Given the description of an element on the screen output the (x, y) to click on. 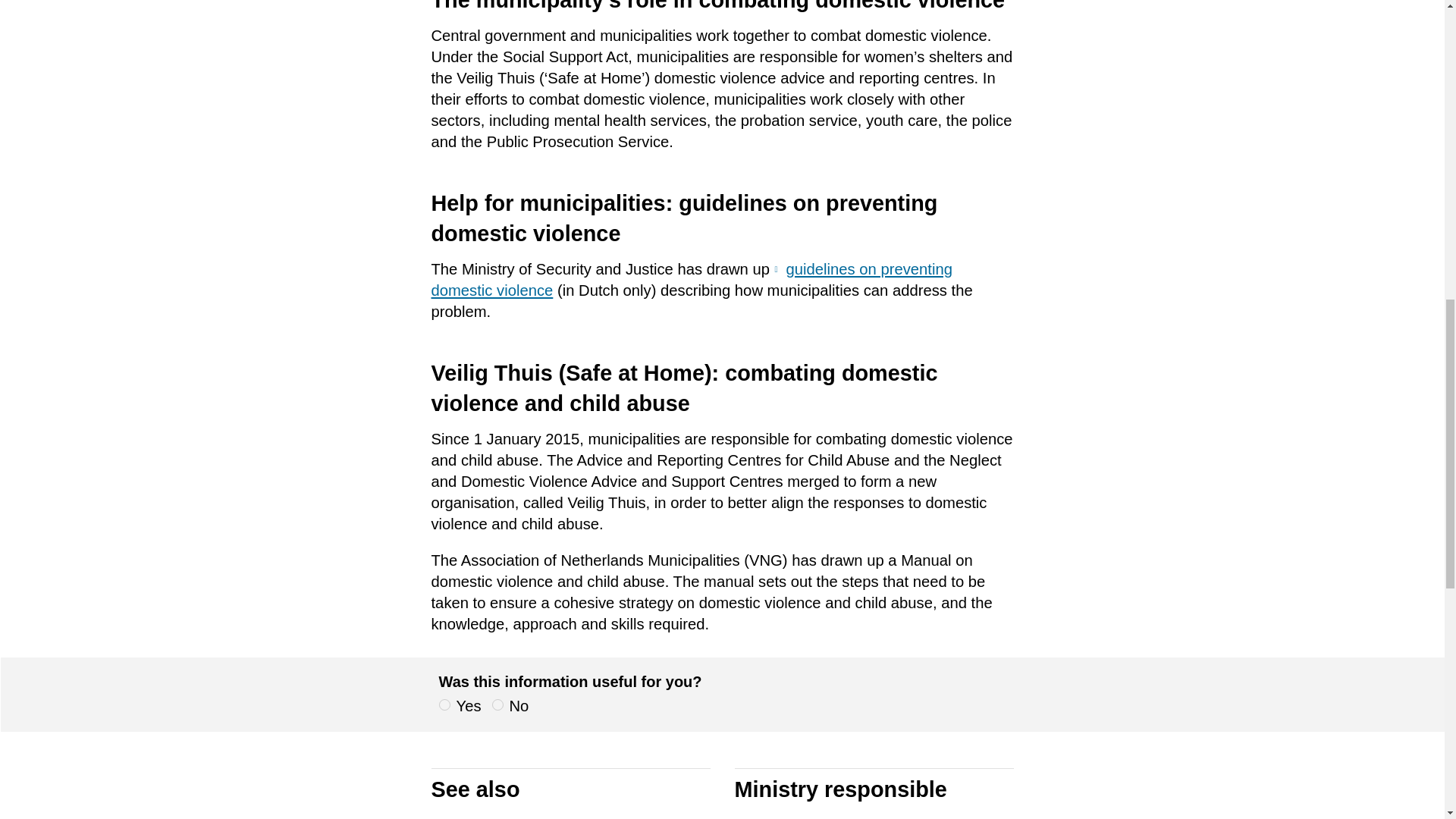
ja (443, 704)
nee (497, 704)
guidelines on preventing domestic violence (691, 279)
